Given the description of an element on the screen output the (x, y) to click on. 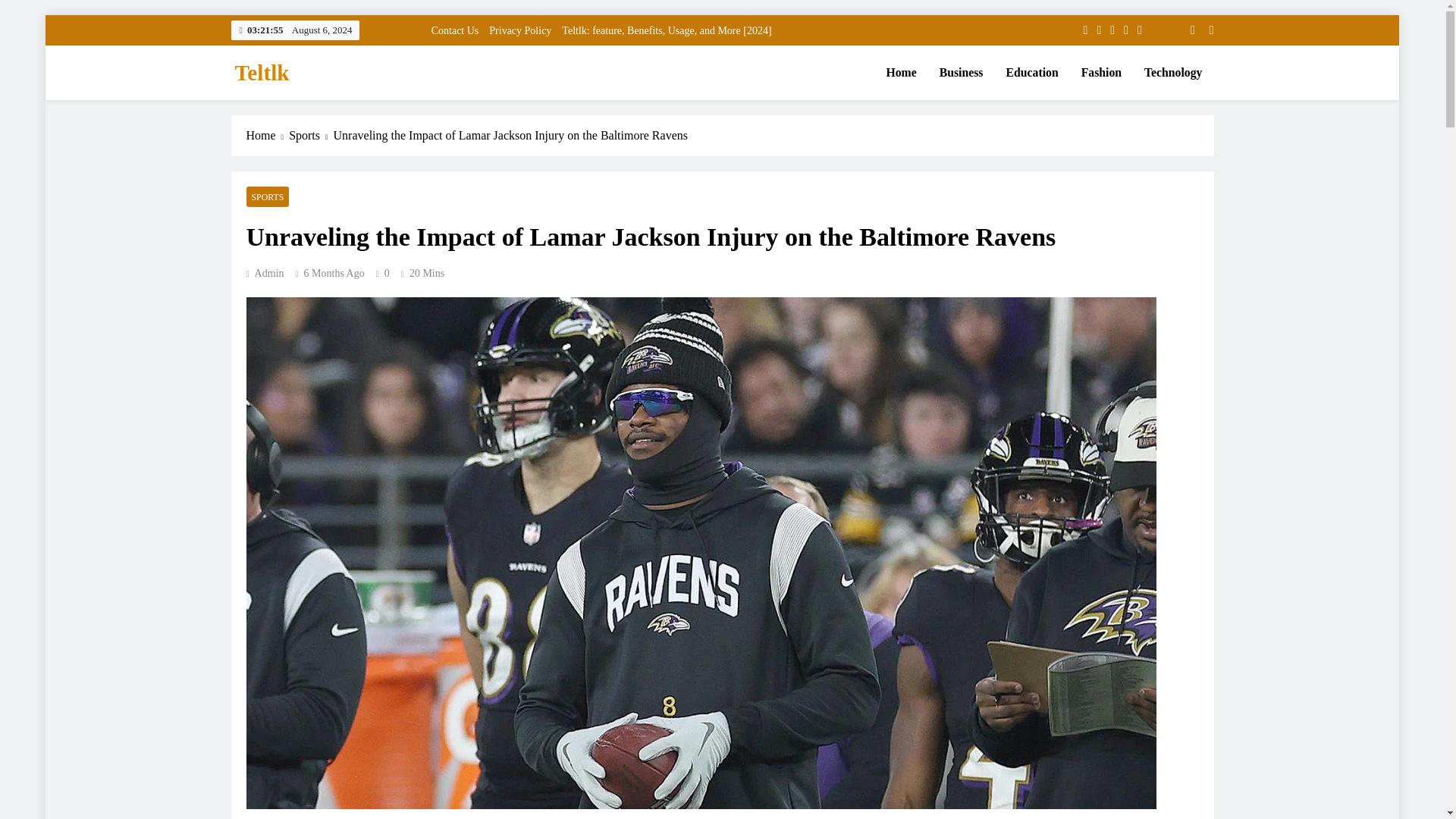
SPORTS (267, 196)
Teltlk (261, 72)
Privacy Policy (520, 30)
Education (1032, 72)
Sports (310, 135)
6 Months Ago (334, 273)
Technology (1172, 72)
Fashion (1101, 72)
Home (901, 72)
Admin (264, 273)
Home (267, 135)
Business (961, 72)
Contact Us (454, 30)
